Given the description of an element on the screen output the (x, y) to click on. 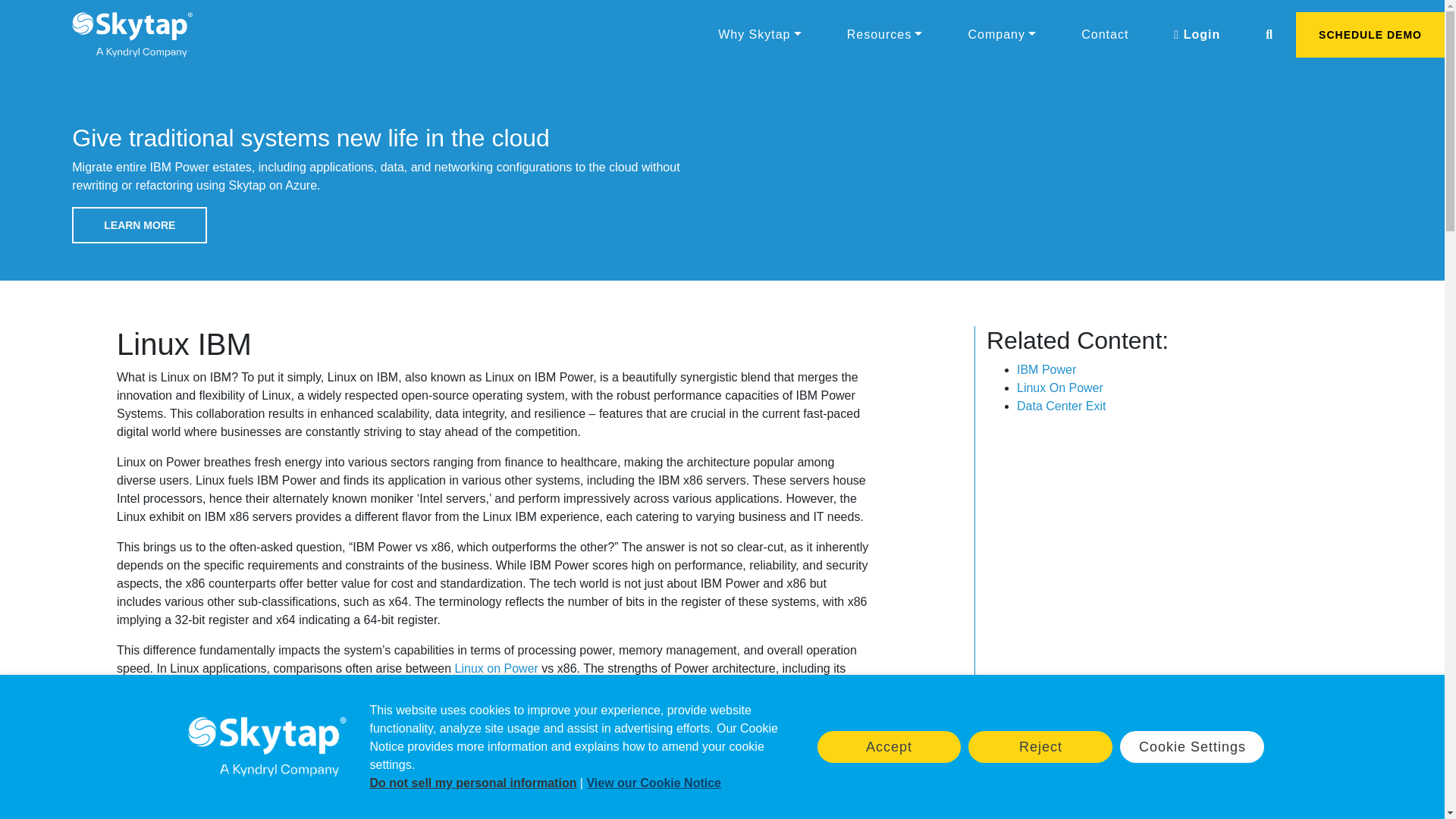
Resources (884, 33)
Why Skytap (759, 33)
Linux On Power (1059, 387)
Why Skytap (759, 33)
Resources (884, 33)
Login (1197, 33)
Company (1001, 33)
LEARN MORE (138, 225)
Data Center Exit (1060, 405)
IBM Power (1045, 369)
Contact (1104, 33)
Linux on Power (496, 667)
